Given the description of an element on the screen output the (x, y) to click on. 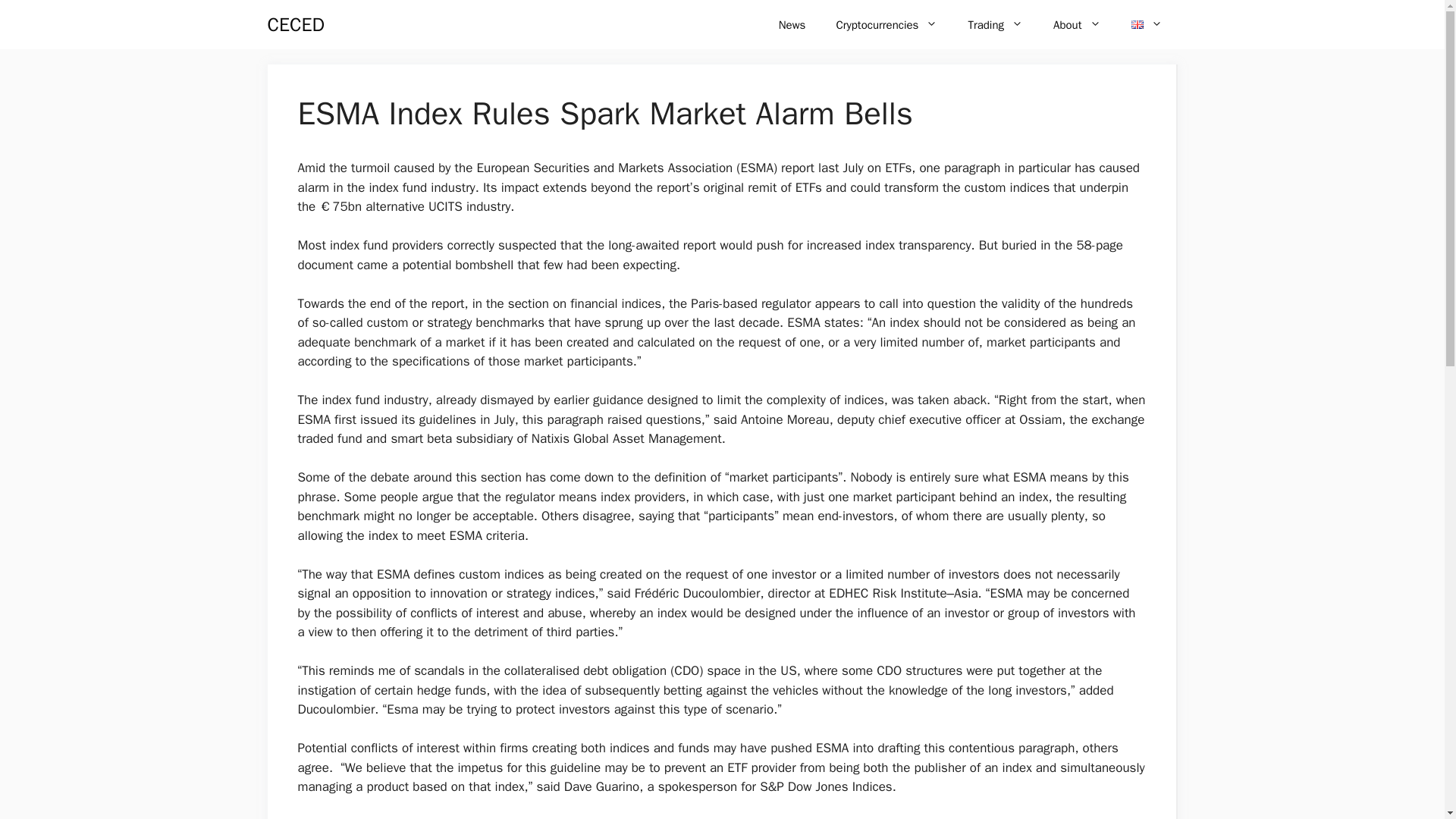
News (791, 23)
Cryptocurrencies (886, 23)
Trading (995, 23)
CECED (294, 24)
